Given the description of an element on the screen output the (x, y) to click on. 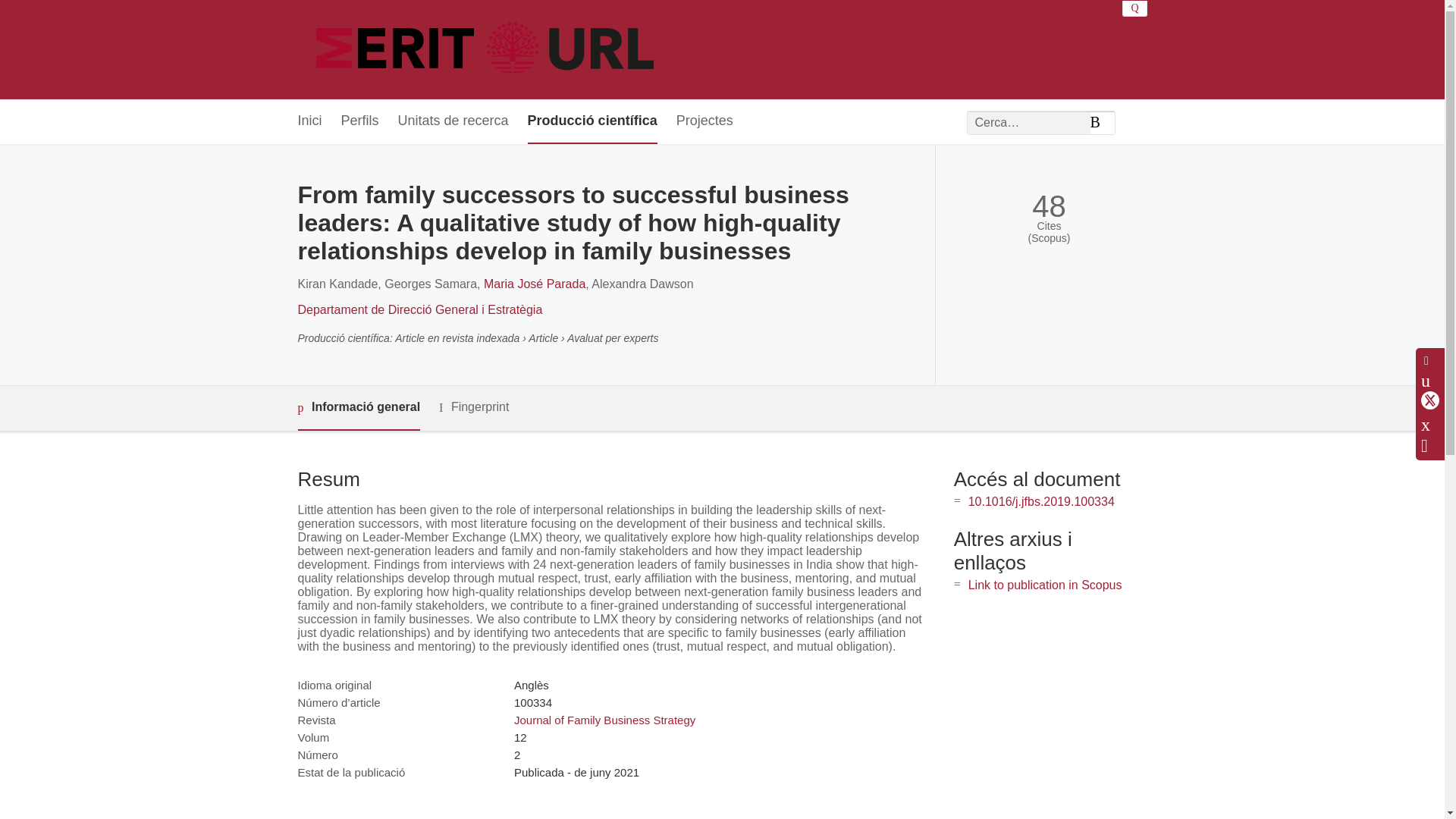
Unitats de recerca (452, 121)
Fingerprint (473, 407)
Projectes (705, 121)
Journal of Family Business Strategy (604, 719)
Perfils (359, 121)
Link to publication in Scopus (1045, 584)
Universitat Ramon Llull Inici (487, 49)
Inici (309, 121)
